Given the description of an element on the screen output the (x, y) to click on. 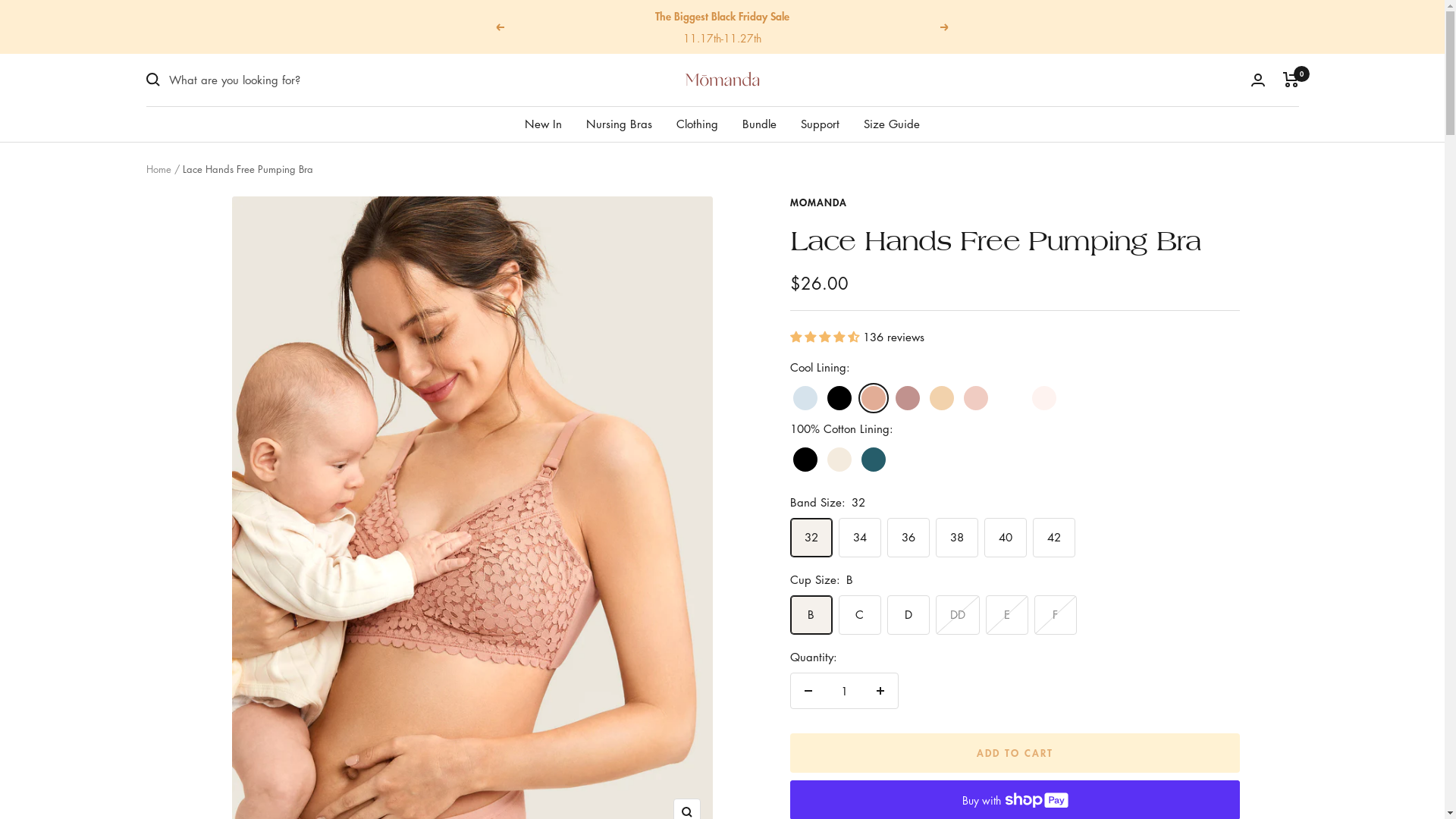
32 Element type: text (985, 87)
6972027175097_ql_Cream Coffee Element type: text (858, 150)
Size Guide Element type: text (891, 123)
ADD TO CART Element type: text (1015, 752)
B Element type: text (1098, 87)
7555223421113_ql_Arctic blue Element type: text (858, 87)
0 Element type: text (1291, 79)
D Element type: text (1098, 150)
6972027175097_ql_Rose Brown Element type: text (858, 182)
Increase quantity Element type: text (879, 690)
7555223388345_ql_Pumpkin Element type: text (858, 278)
34 Element type: text (985, 118)
7302703481017_ql_Beige Element type: text (858, 214)
40 Element type: text (985, 214)
DD Element type: text (1098, 182)
7555223421113_ql_Black Element type: text (858, 118)
Clothing Element type: text (697, 123)
E Element type: text (1098, 214)
7302703481017_ql_Gentle Rose Element type: text (858, 246)
F Element type: text (1098, 246)
38 Element type: text (985, 182)
7606320693433_ql_Spruce Green Element type: text (858, 405)
C Element type: text (1098, 118)
Nursing Bras Element type: text (619, 123)
36 Element type: text (985, 150)
Home Element type: text (157, 169)
Decrease quantity Element type: text (807, 690)
Momanda.us Element type: text (722, 79)
Support Element type: text (819, 123)
7606320693433_ql_Black Element type: text (858, 341)
7606320693433_ql_Ivory Element type: text (858, 373)
Previous Element type: text (499, 26)
7555223388345_ql_Rose White Element type: text (858, 310)
Next Element type: text (944, 26)
Bundle Element type: text (759, 123)
MOMANDA Element type: text (818, 201)
42 Element type: text (985, 246)
New In Element type: text (542, 123)
